Given the description of an element on the screen output the (x, y) to click on. 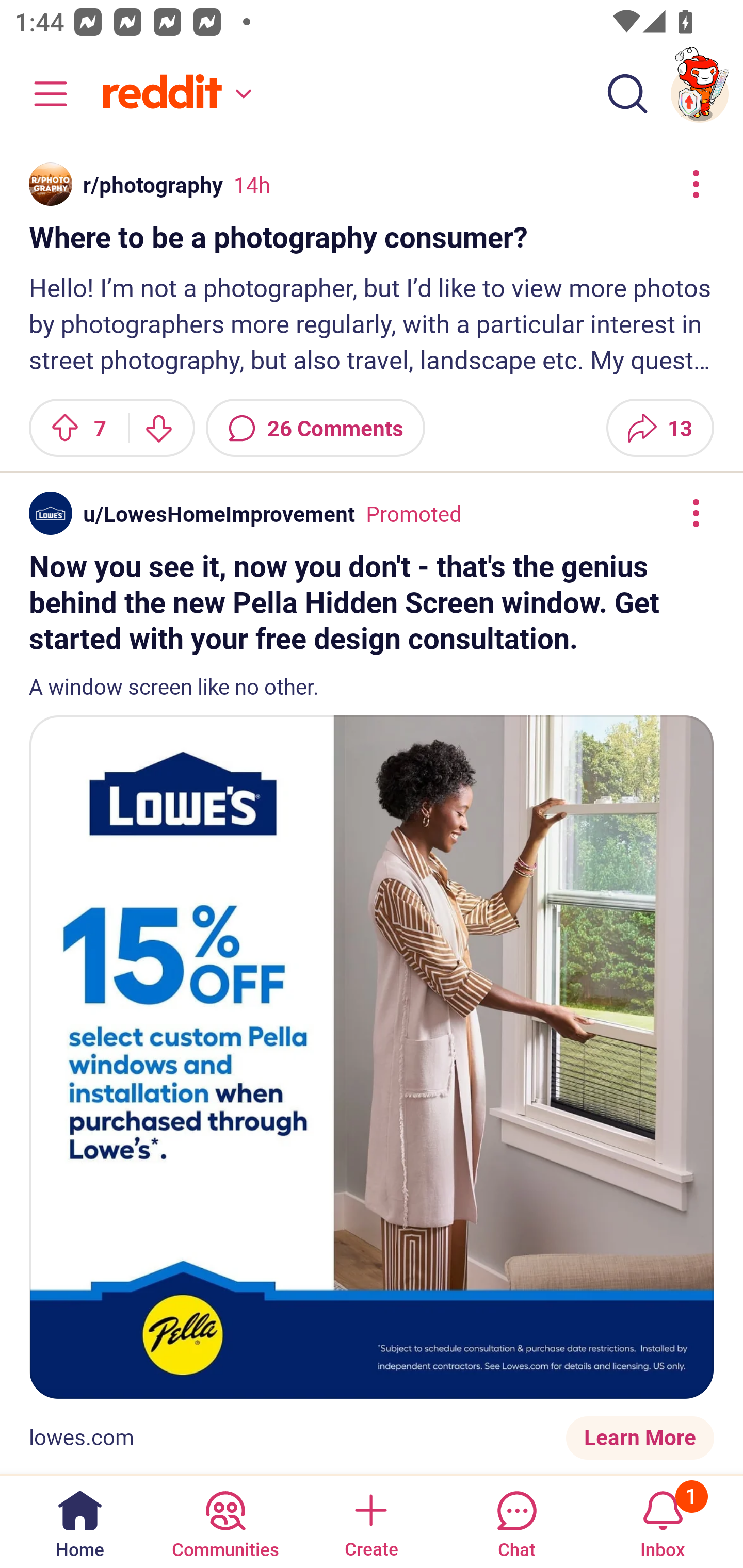
Search (626, 93)
TestAppium002 account (699, 93)
Community menu (41, 94)
Home feed (173, 94)
Home (80, 1520)
Communities (225, 1520)
Create a post Create (370, 1520)
Chat (516, 1520)
Inbox, has 1 notification 1 Inbox (662, 1520)
